Given the description of an element on the screen output the (x, y) to click on. 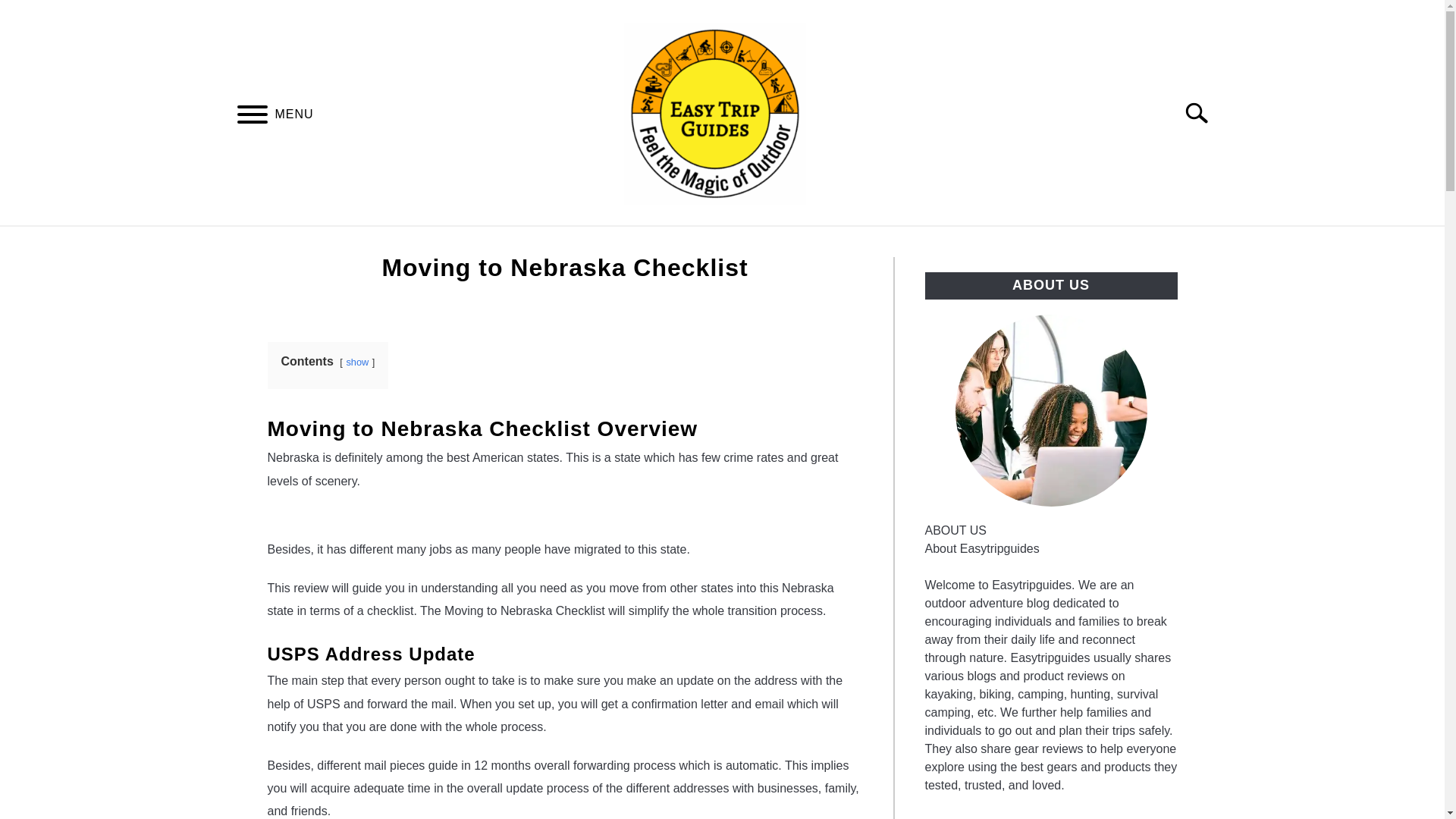
show (357, 361)
MENU (251, 116)
Search (1203, 112)
